Given the description of an element on the screen output the (x, y) to click on. 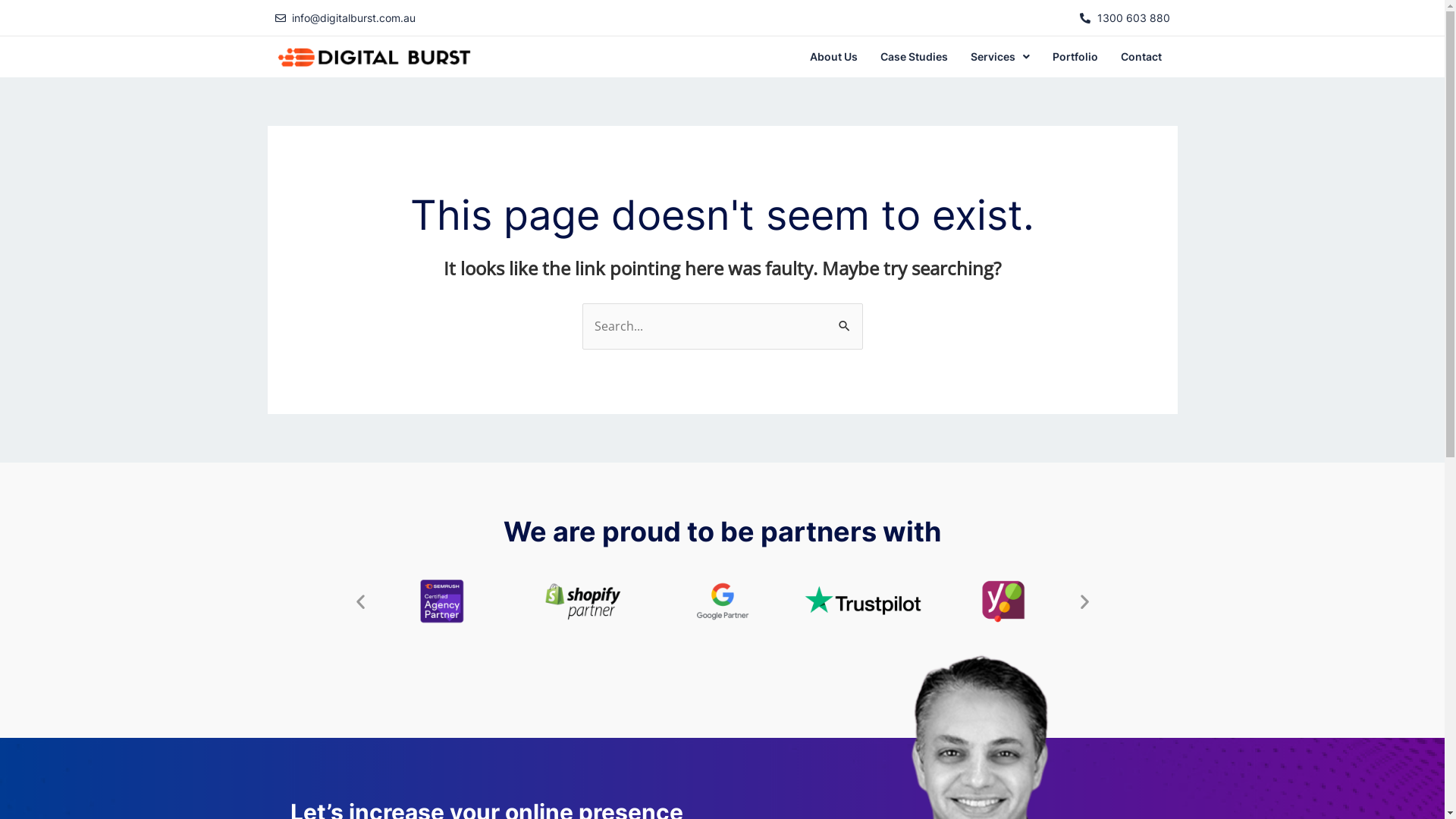
About Us Element type: text (833, 56)
1300 603 880 Element type: text (1124, 17)
Services Element type: text (1000, 56)
Portfolio Element type: text (1074, 56)
Contact Element type: text (1141, 56)
Case Studies Element type: text (913, 56)
info@digitalburst.com.au Element type: text (494, 17)
Search Element type: text (845, 318)
